Given the description of an element on the screen output the (x, y) to click on. 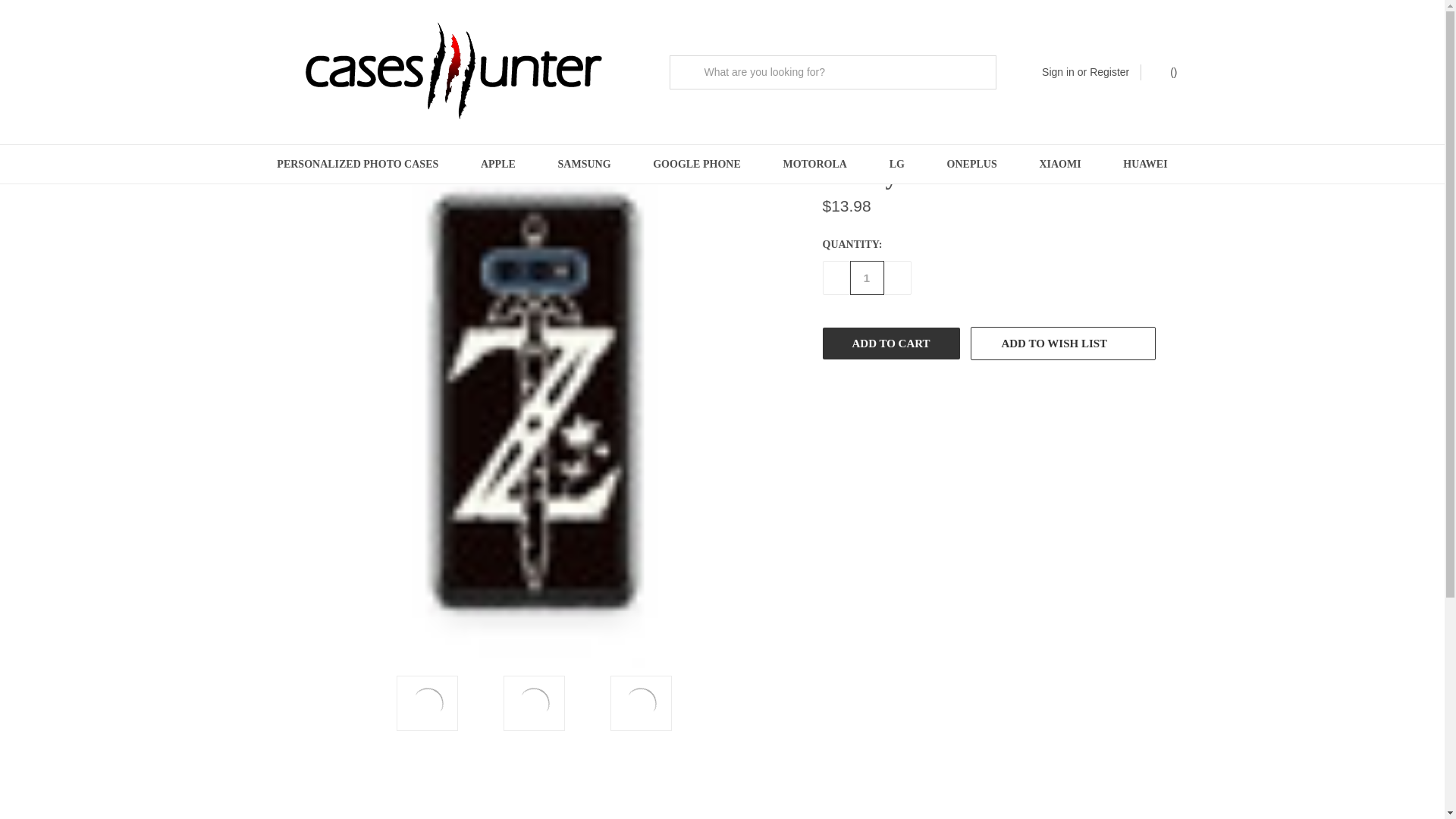
Register (1109, 71)
Zelda Minimalist Samsung Galaxy S10e Case (427, 703)
Add to Cart (890, 343)
Sign in (1058, 71)
Zelda Minimalist Samsung Galaxy S10e Case (640, 703)
1 (865, 277)
PERSONALIZED PHOTO CASES (358, 163)
APPLE (498, 163)
CASESHUNTER (456, 71)
Zelda Minimalist Samsung Galaxy S10e Case (534, 703)
